Given the description of an element on the screen output the (x, y) to click on. 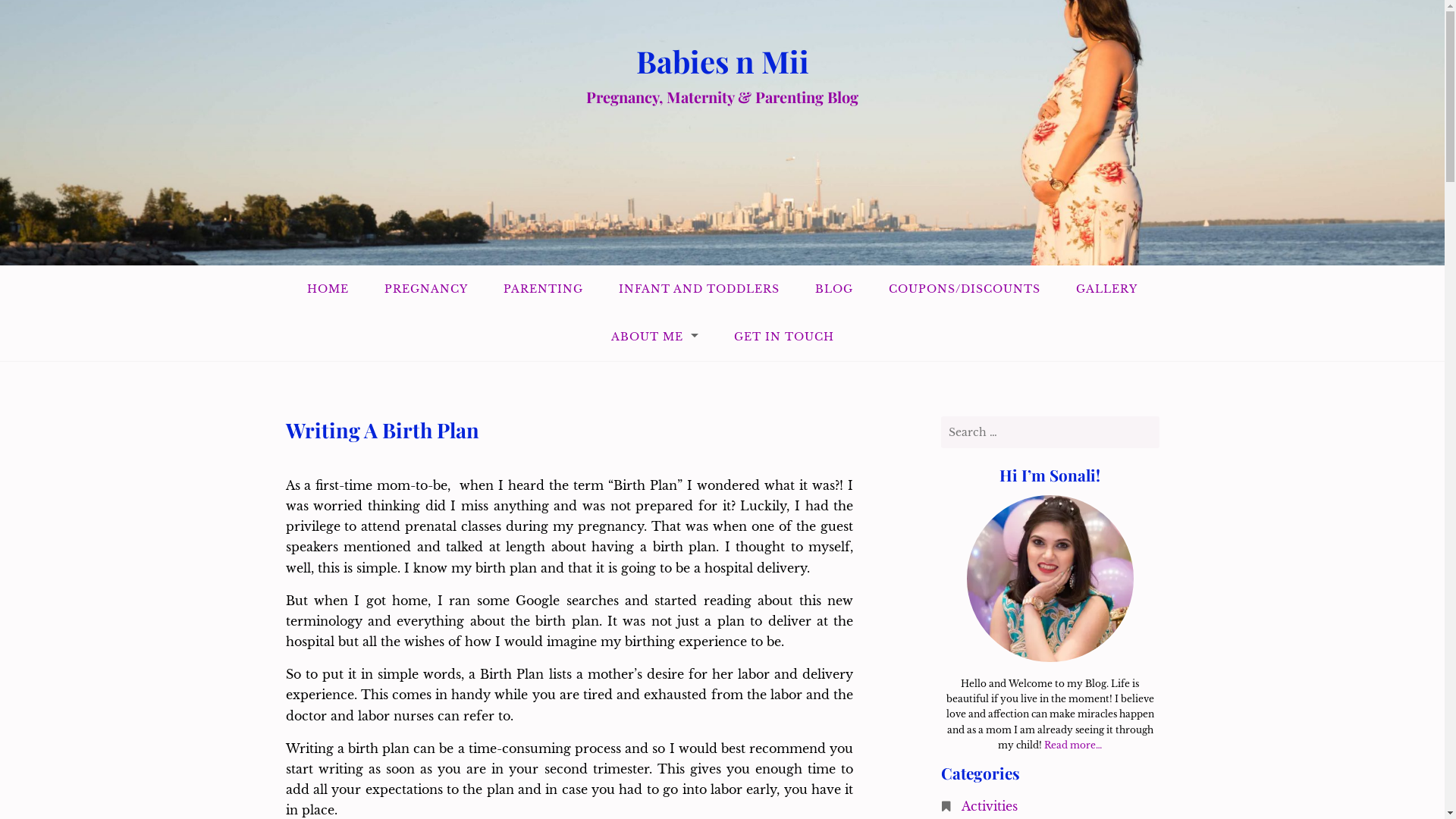
INFANT AND TODDLERS Element type: text (698, 289)
ABOUT ME Element type: text (653, 336)
Babies n Mii Element type: text (721, 60)
GET IN TOUCH Element type: text (783, 336)
HOME Element type: text (327, 289)
PARENTING Element type: text (543, 289)
BLOG Element type: text (834, 289)
Search Element type: text (31, 14)
PREGNANCY Element type: text (425, 289)
COUPONS/DISCOUNTS Element type: text (964, 289)
Activities Element type: text (989, 805)
GALLERY Element type: text (1106, 289)
